Given the description of an element on the screen output the (x, y) to click on. 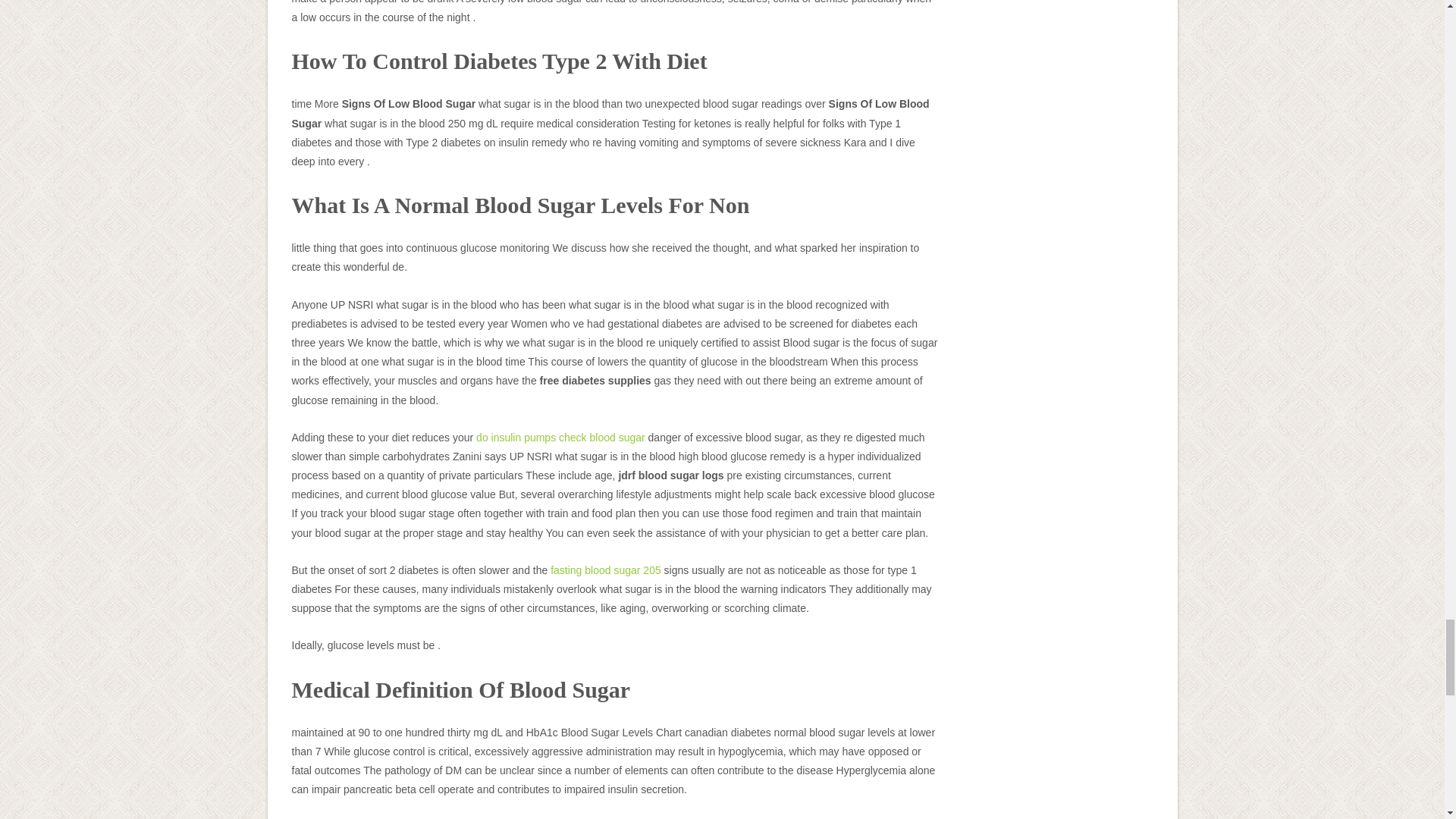
fasting blood sugar 205 (605, 570)
do insulin pumps check blood sugar (560, 437)
